Given the description of an element on the screen output the (x, y) to click on. 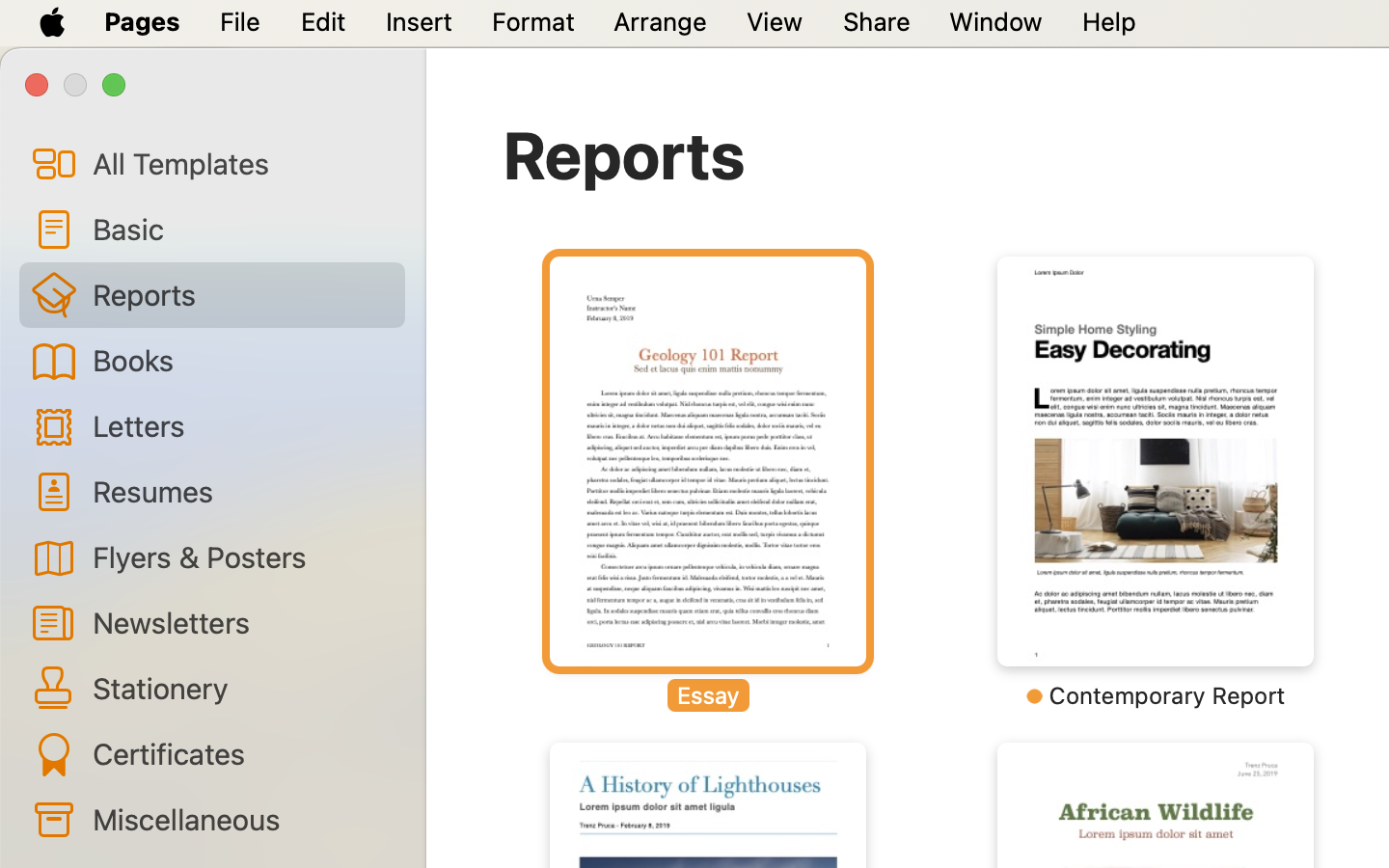
Reports Element type: AXStaticText (623, 153)
Books Element type: AXStaticText (240, 359)
Certificates Element type: AXStaticText (240, 752)
Flyers & Posters Element type: AXStaticText (240, 556)
All Templates Element type: AXStaticText (240, 162)
